Given the description of an element on the screen output the (x, y) to click on. 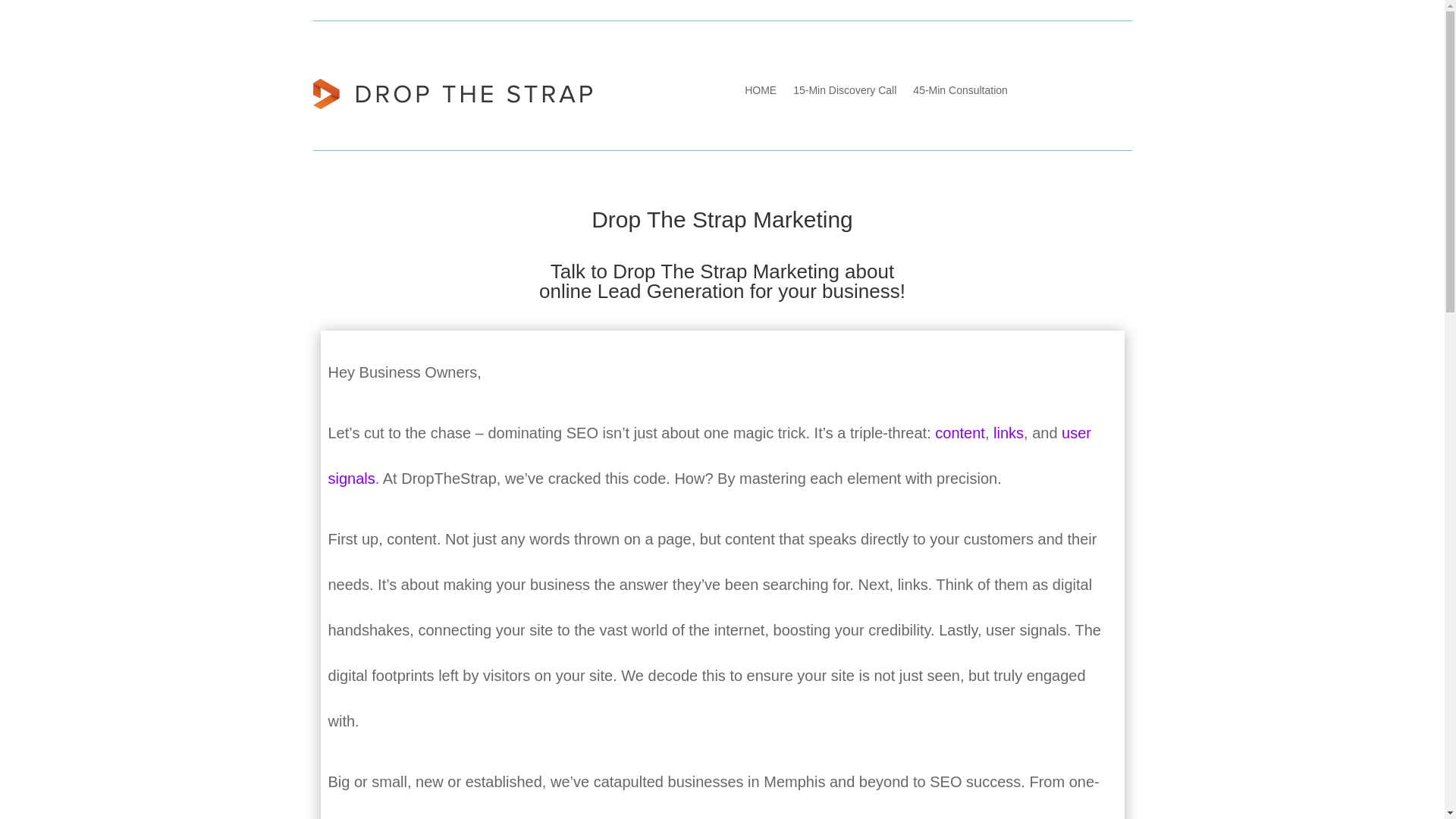
Drop The Strap Marketing Logo (452, 93)
content (959, 433)
user signals (708, 455)
HOME (760, 93)
links (1007, 433)
15-Min Discovery Call (844, 93)
45-Min Consultation (959, 93)
